Given the description of an element on the screen output the (x, y) to click on. 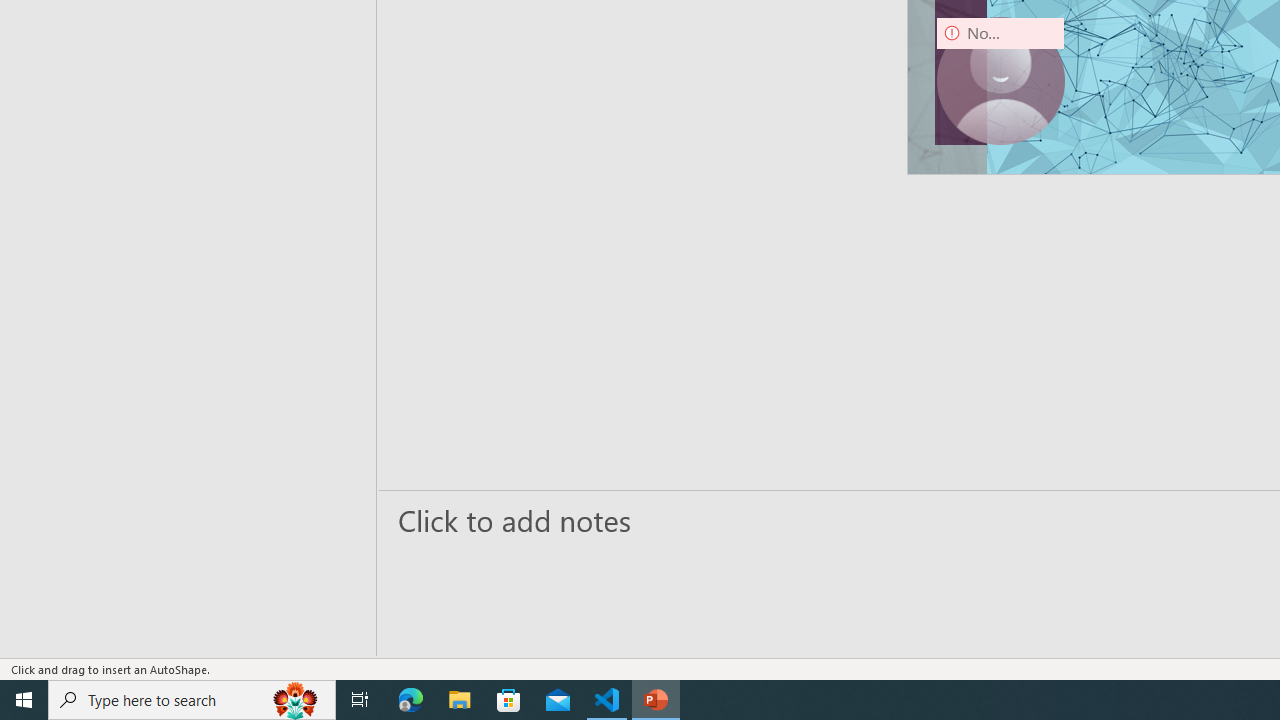
Camera 9, No camera detected. (1000, 80)
